Given the description of an element on the screen output the (x, y) to click on. 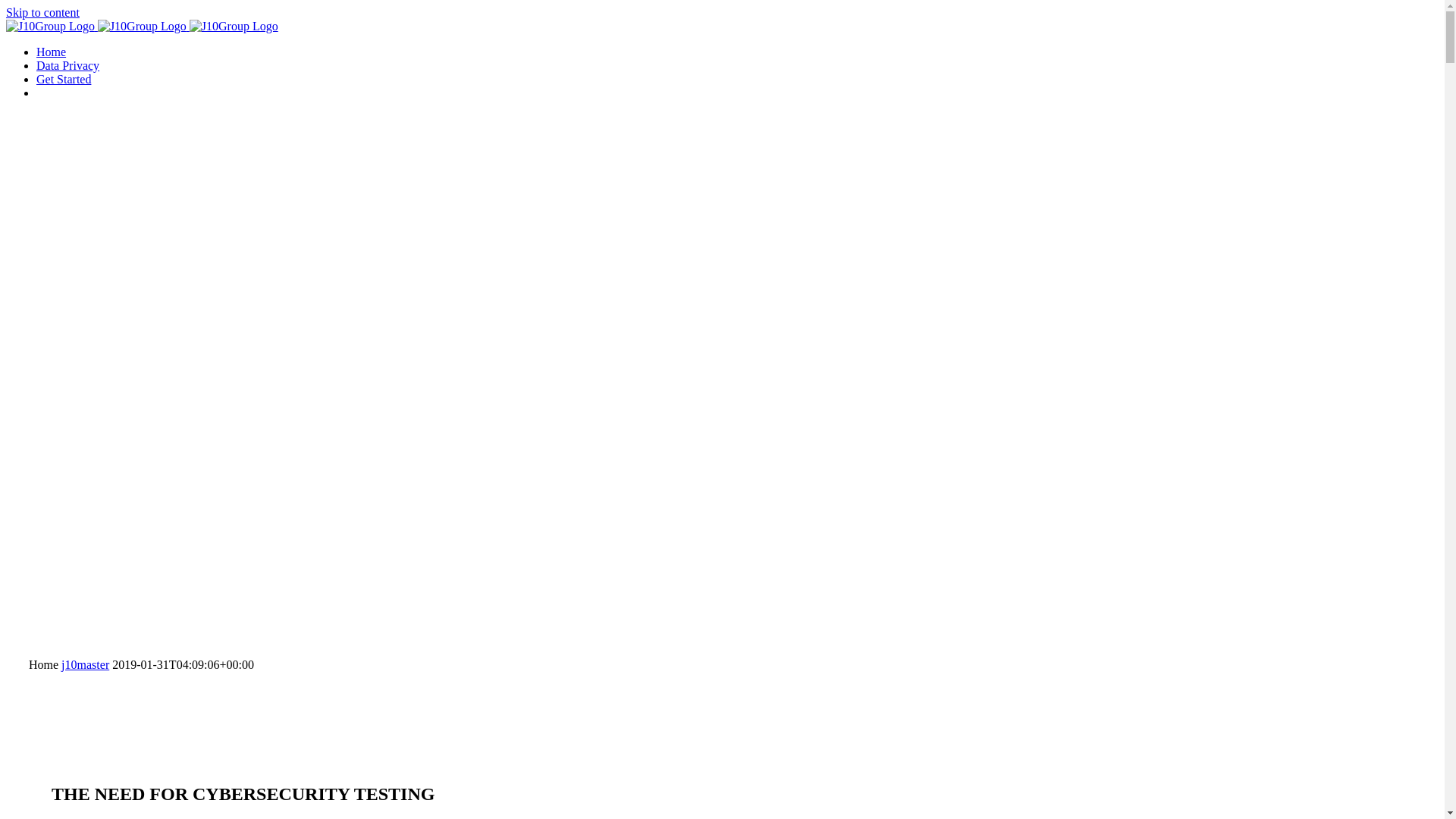
Get Started Element type: text (63, 78)
Home Element type: text (50, 51)
Skip to content Element type: text (42, 12)
j10master Element type: text (85, 664)
Data Privacy Element type: text (67, 65)
